Given the description of an element on the screen output the (x, y) to click on. 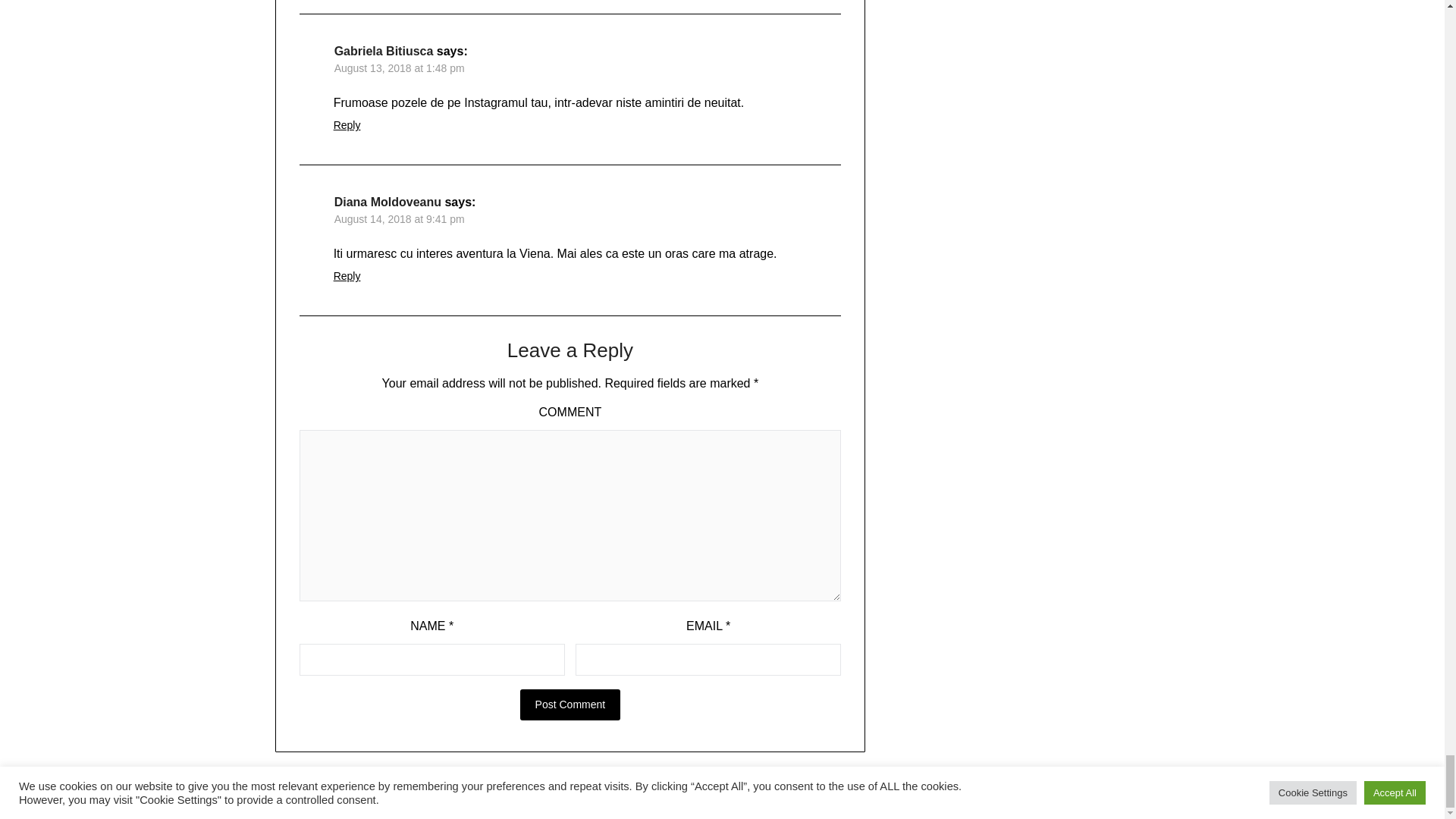
Post Comment (570, 704)
